Given the description of an element on the screen output the (x, y) to click on. 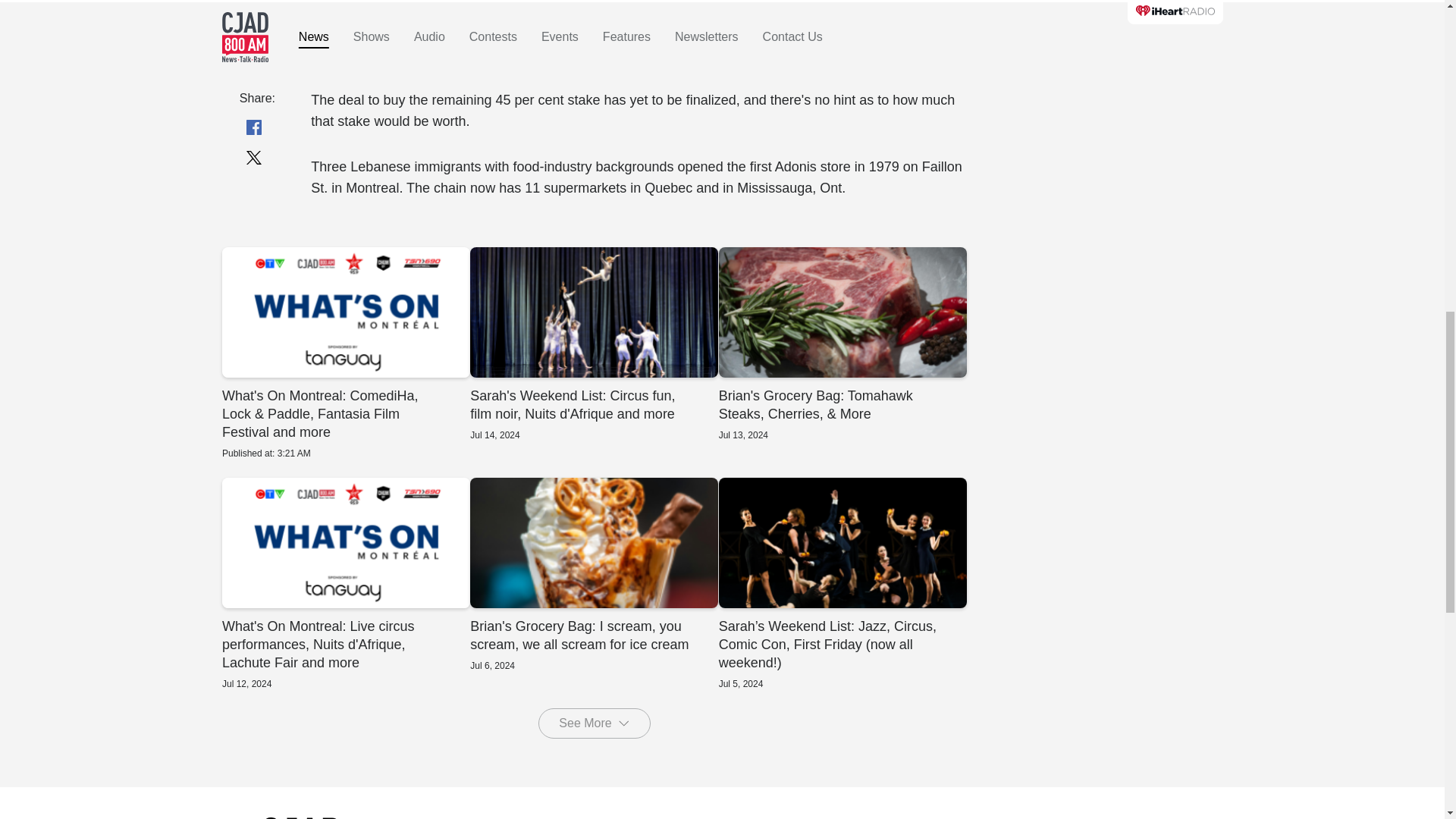
See More (593, 723)
